Given the description of an element on the screen output the (x, y) to click on. 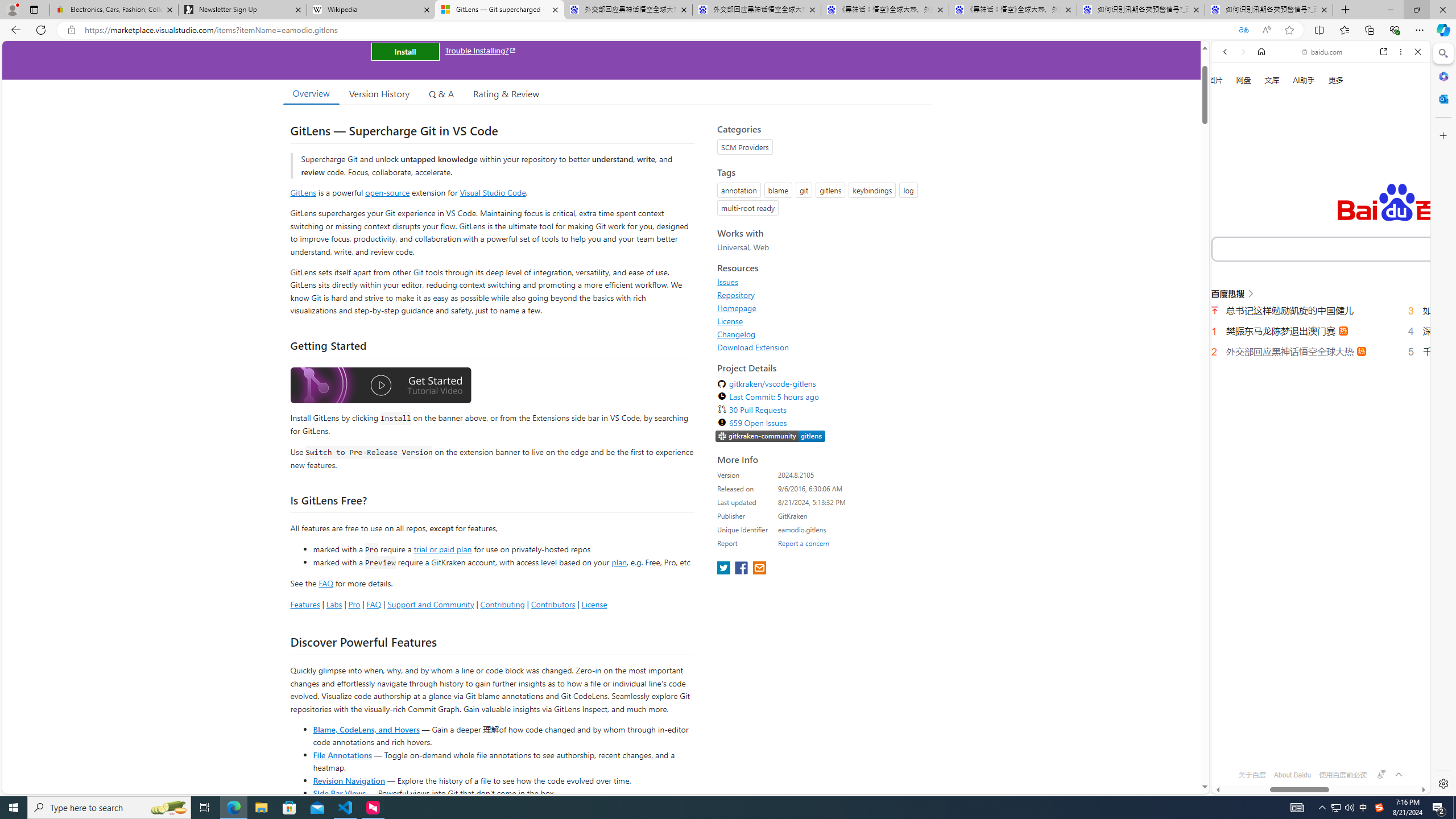
Visual Studio Code (492, 192)
Features (304, 603)
English (Uk) (1320, 357)
